Given the description of an element on the screen output the (x, y) to click on. 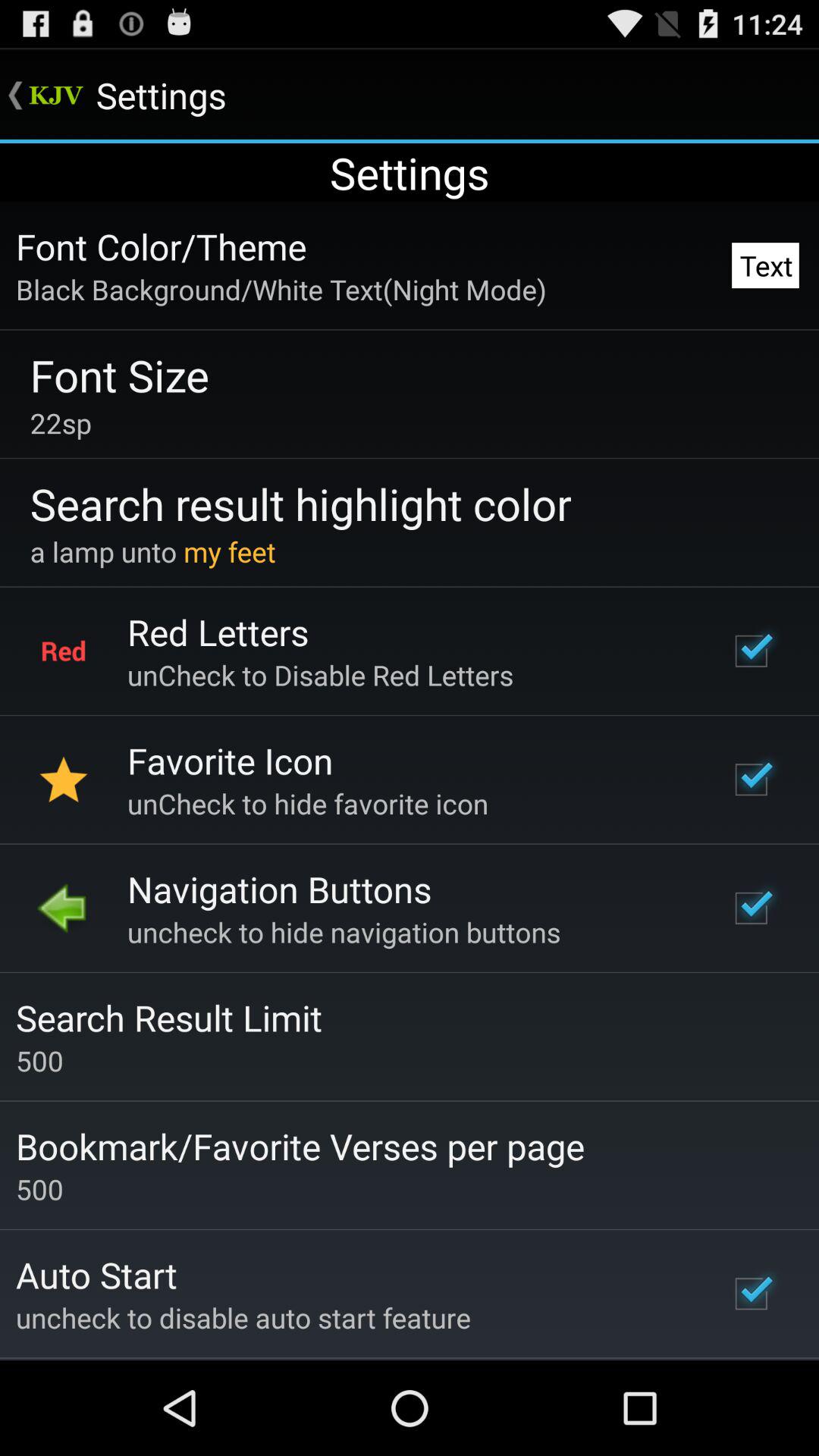
open the font size (119, 374)
